Given the description of an element on the screen output the (x, y) to click on. 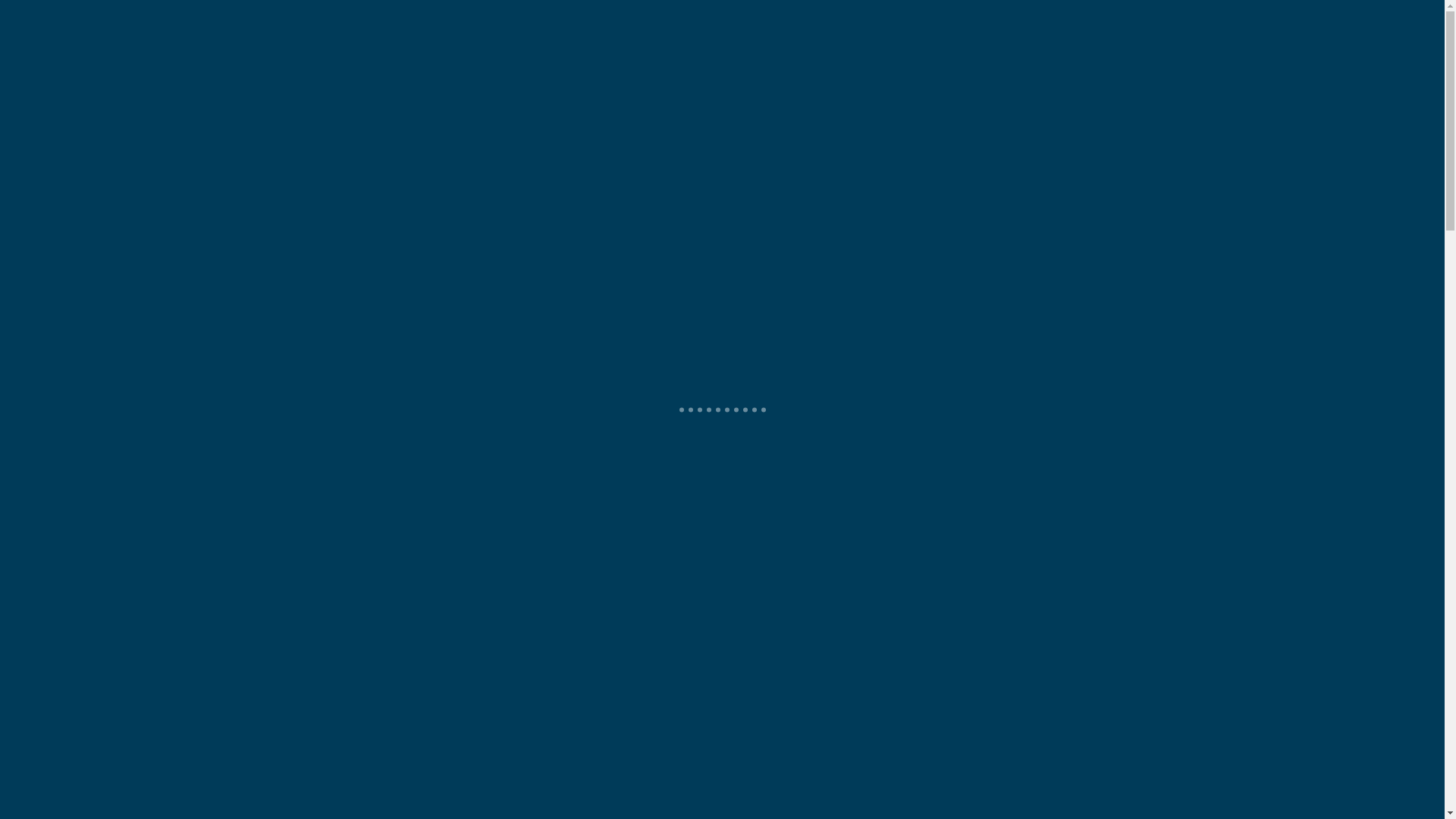
Dekarbonisierung
International
offen Element type: text (722, 504)
Sitemap Element type: text (1026, 15)
Wastewater Engineering & Technologien
International
offen Element type: text (233, 504)
Home Element type: hover (351, 99)
Kauf und Verkauf Element type: text (725, 98)
Impressum Element type: text (1225, 755)
Leistungen Element type: text (622, 98)
Impressum Element type: text (946, 15)
Branchen Element type: text (817, 98)
Biopolymere
International
offen Element type: text (1211, 504)
Transaktionen Element type: text (893, 98)
Datenschutz Element type: text (1107, 15)
Kontakt Element type: text (1045, 98)
